Given the description of an element on the screen output the (x, y) to click on. 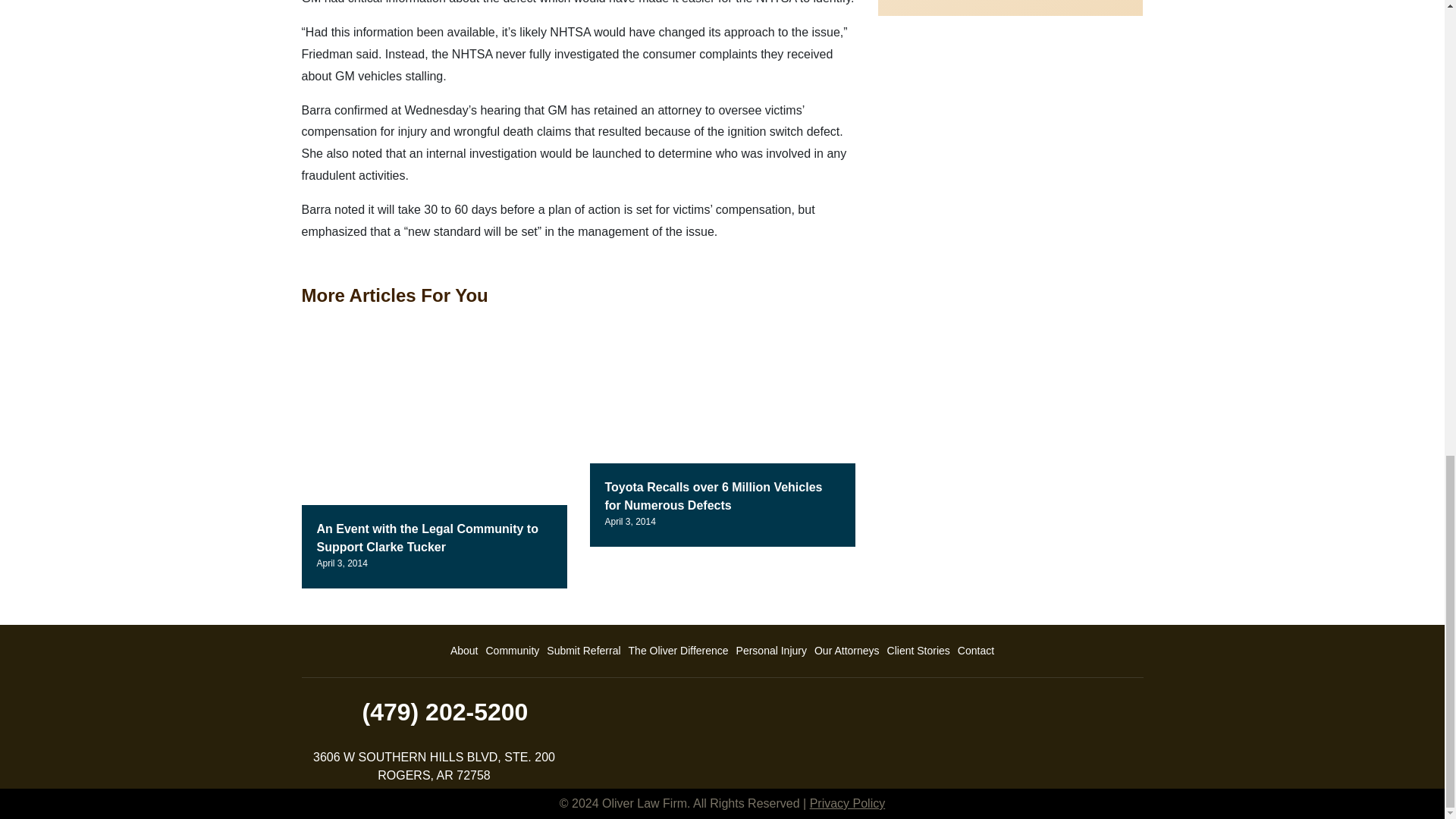
Personal Injury (771, 650)
Client Stories (918, 650)
About (463, 650)
Our Attorneys (846, 650)
Contact (975, 650)
Community (512, 650)
The Oliver Difference (678, 650)
An Event with the Legal Community to Support Clarke Tucker (427, 537)
Toyota Recalls over 6 Million Vehicles for Numerous Defects (713, 495)
Submit Referral (583, 650)
